Given the description of an element on the screen output the (x, y) to click on. 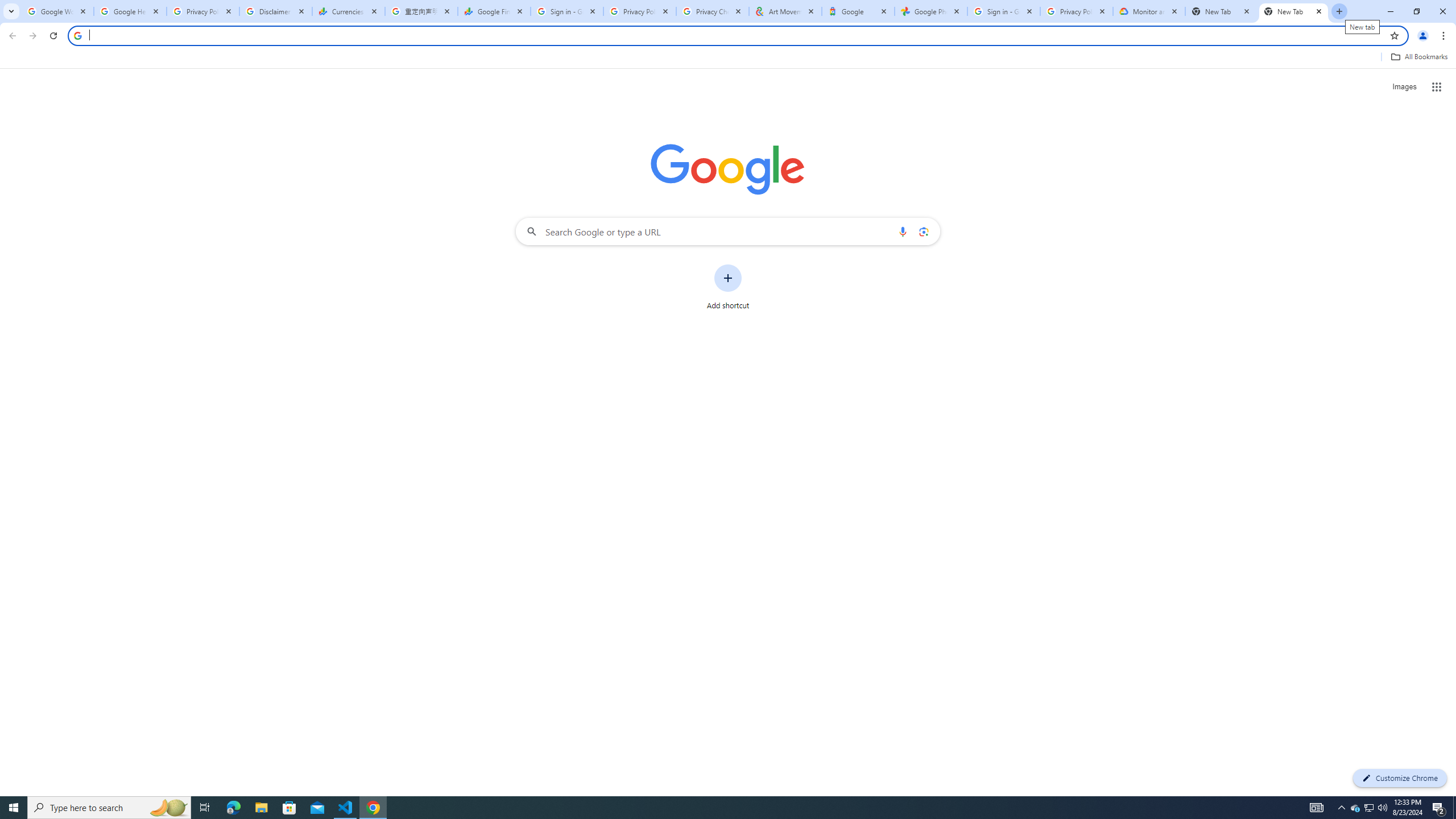
Sign in - Google Accounts (1003, 11)
New Tab (1293, 11)
